Given the description of an element on the screen output the (x, y) to click on. 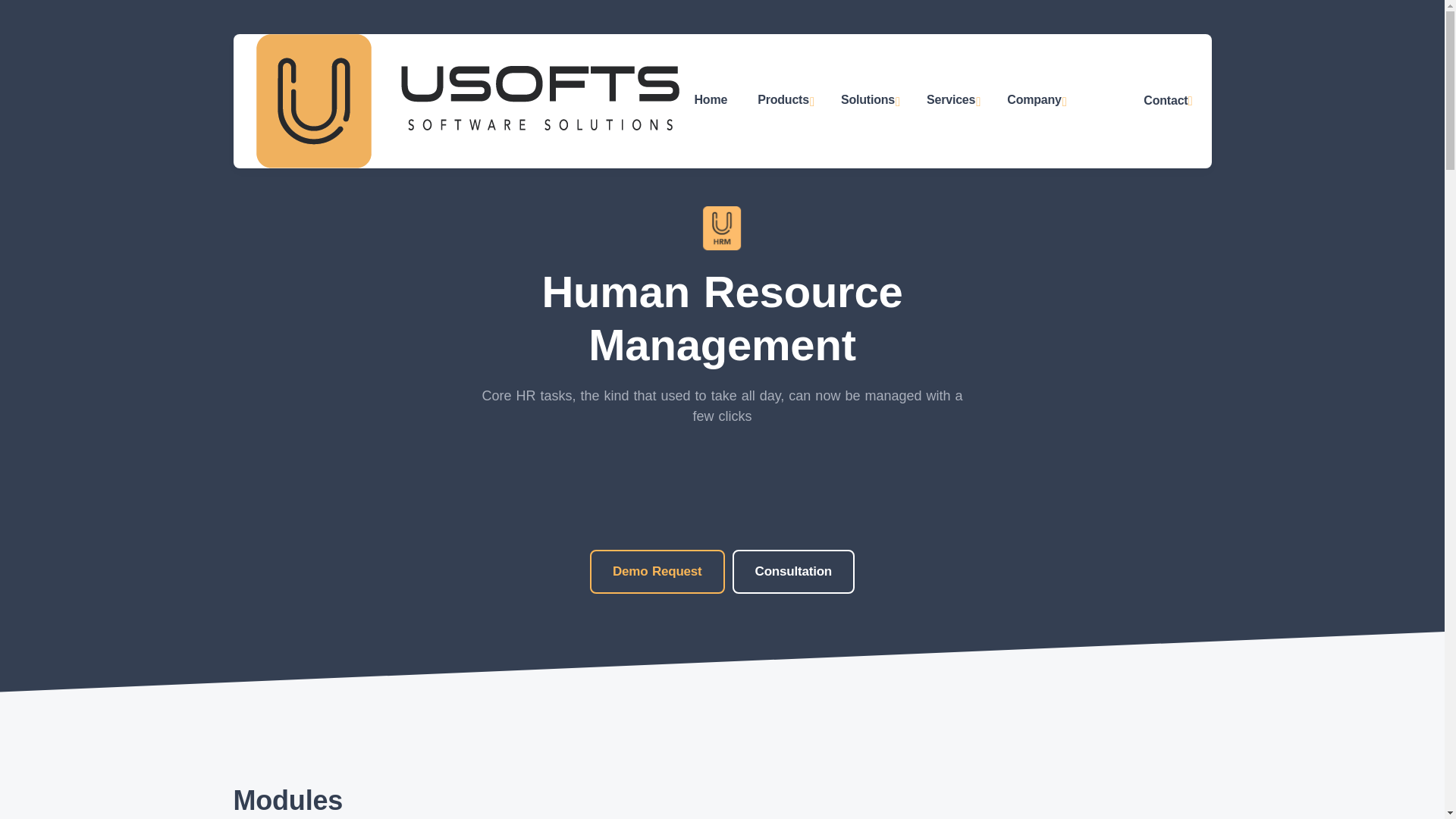
Services (951, 101)
Products (783, 101)
Home (710, 99)
Solutions (868, 101)
